Given the description of an element on the screen output the (x, y) to click on. 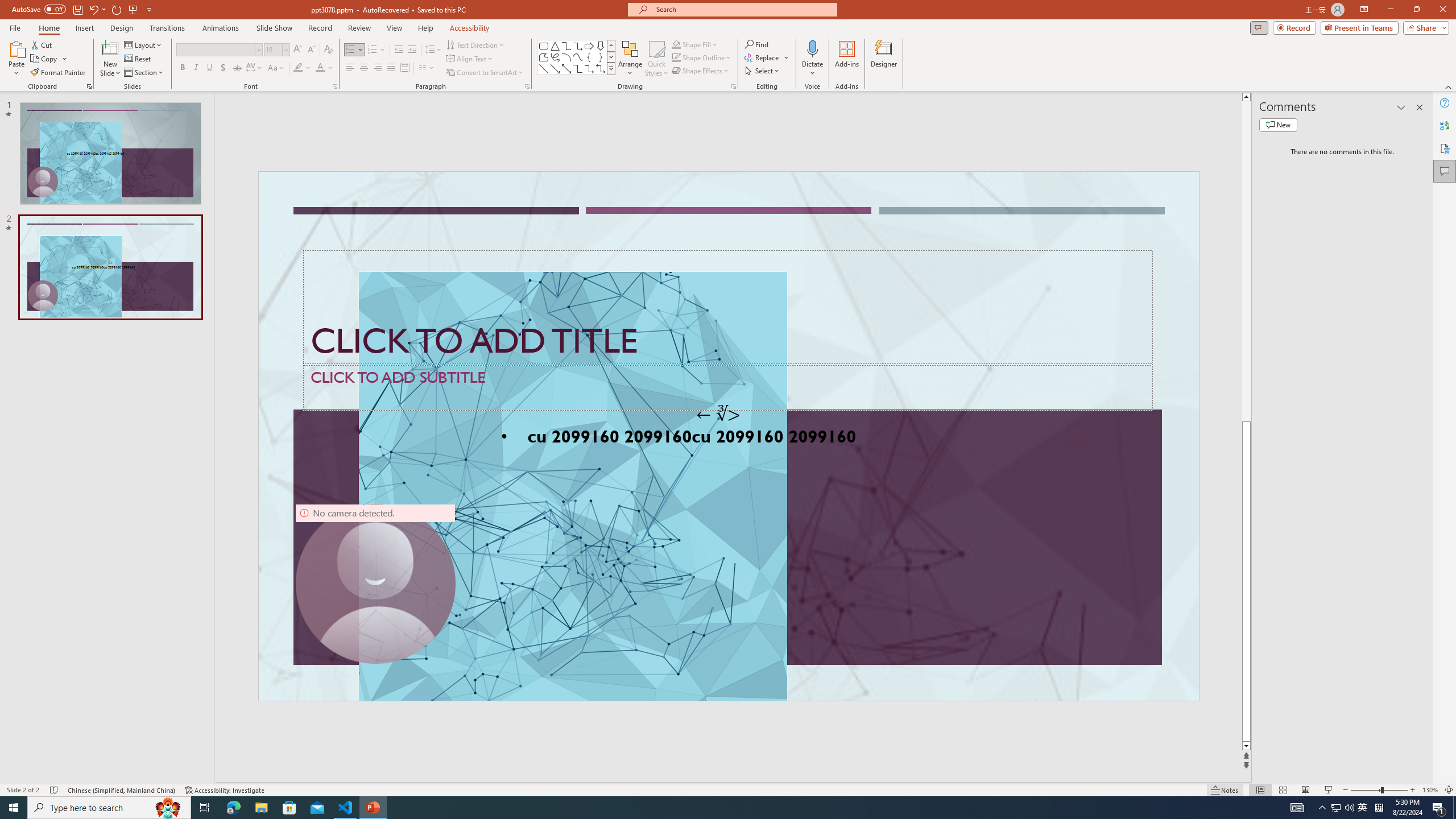
Camera 9, No camera detected. (374, 584)
Subtitle TextBox (727, 386)
Connector: Elbow Double-Arrow (600, 68)
An abstract genetic concept (728, 436)
